Given the description of an element on the screen output the (x, y) to click on. 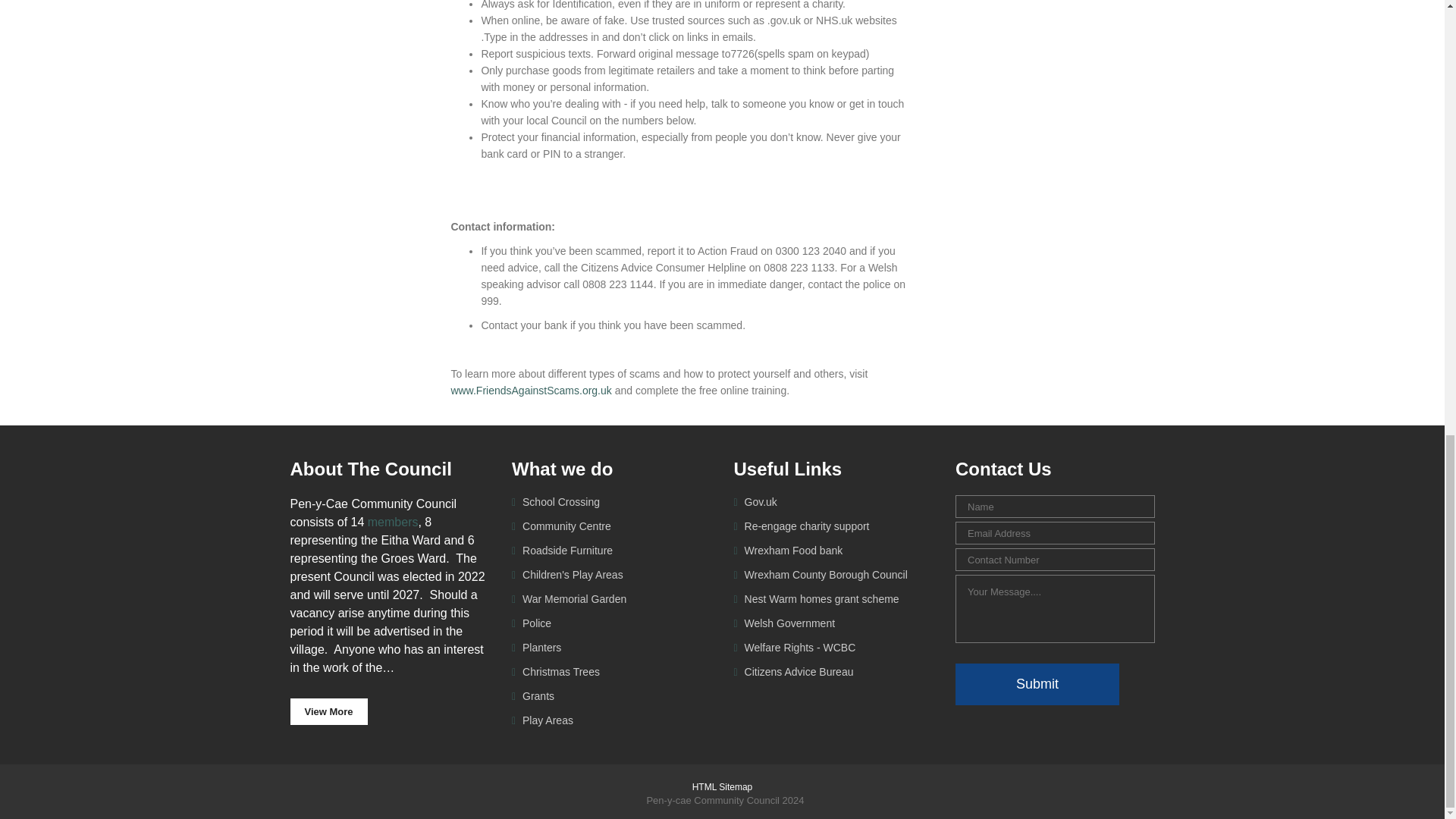
Roadside Furniture (565, 550)
Christmas Trees (559, 671)
www.FriendsAgainstScams.org.uk (530, 390)
Grants (536, 695)
Children's Play Areas (571, 574)
Community Centre (565, 526)
Play Areas (546, 720)
View More (327, 711)
Planters (539, 647)
Police (535, 623)
School Crossing (559, 501)
members (393, 521)
War Memorial Garden (572, 598)
